Given the description of an element on the screen output the (x, y) to click on. 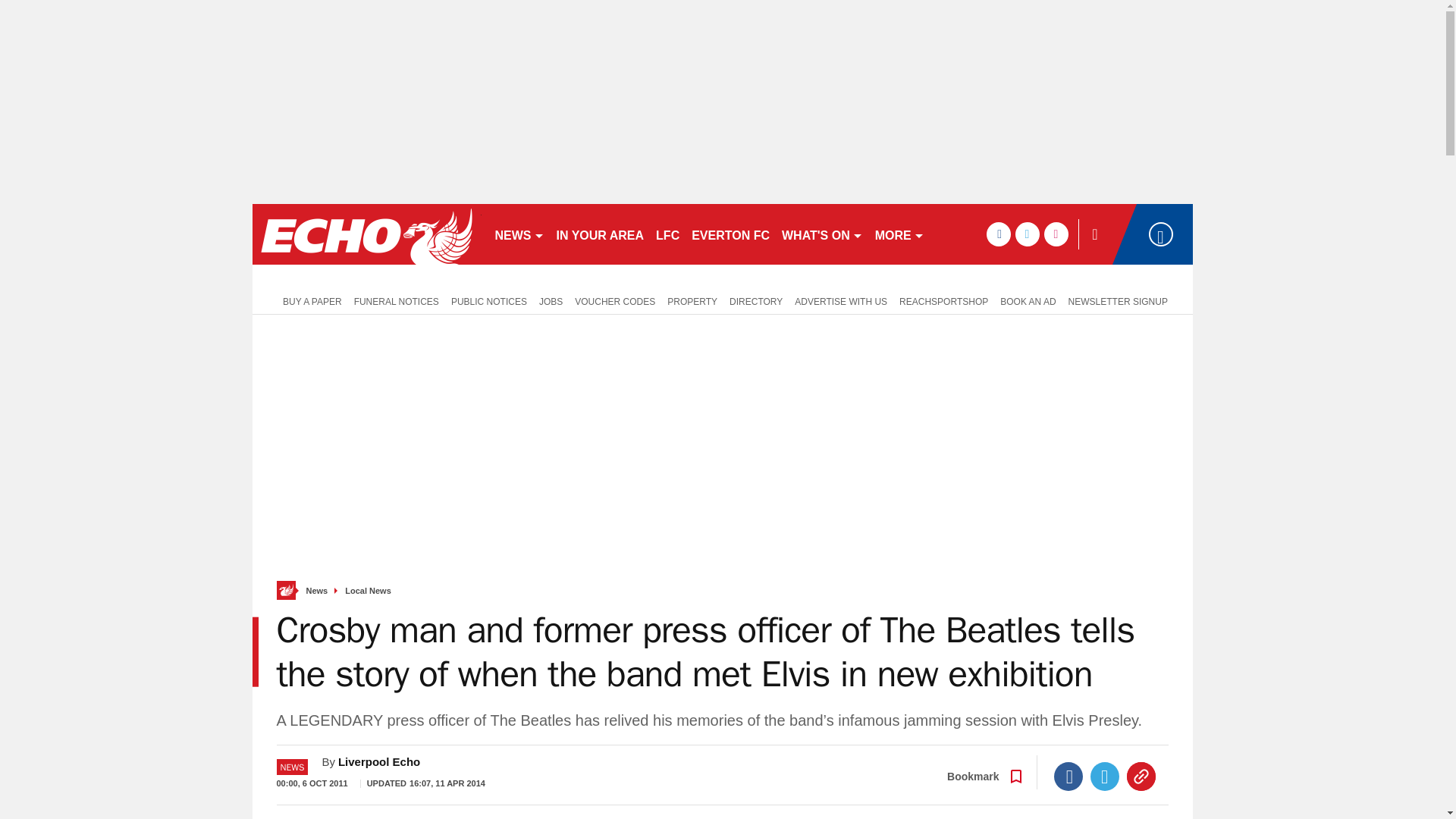
MORE (899, 233)
twitter (1026, 233)
IN YOUR AREA (600, 233)
Facebook (1068, 776)
facebook (997, 233)
WHAT'S ON (822, 233)
instagram (1055, 233)
liverpoolecho (365, 233)
EVERTON FC (730, 233)
NEWS (518, 233)
